Given the description of an element on the screen output the (x, y) to click on. 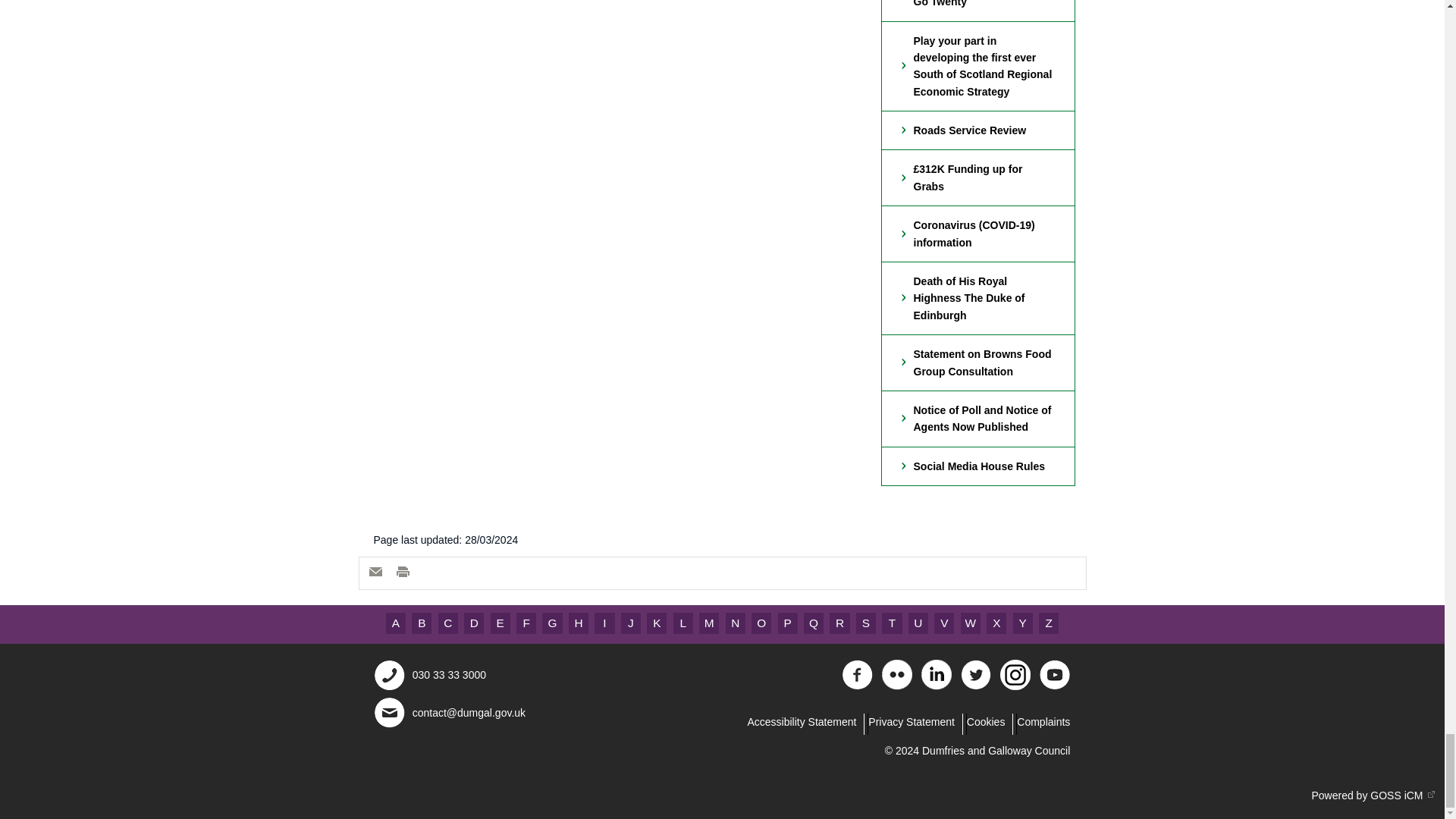
YouTube - Dumfries and Galloway Council (1054, 686)
Instagram - Dumfries and Galloway Council (1015, 686)
Twitter - Dumfries and Galloway Council (975, 686)
LinkedIn - Dumfries and Galloway Council (936, 686)
Flickr - Dumfries and Galloway Council (897, 686)
Facebook - Dumfries and Galloway Council (857, 686)
